Given the description of an element on the screen output the (x, y) to click on. 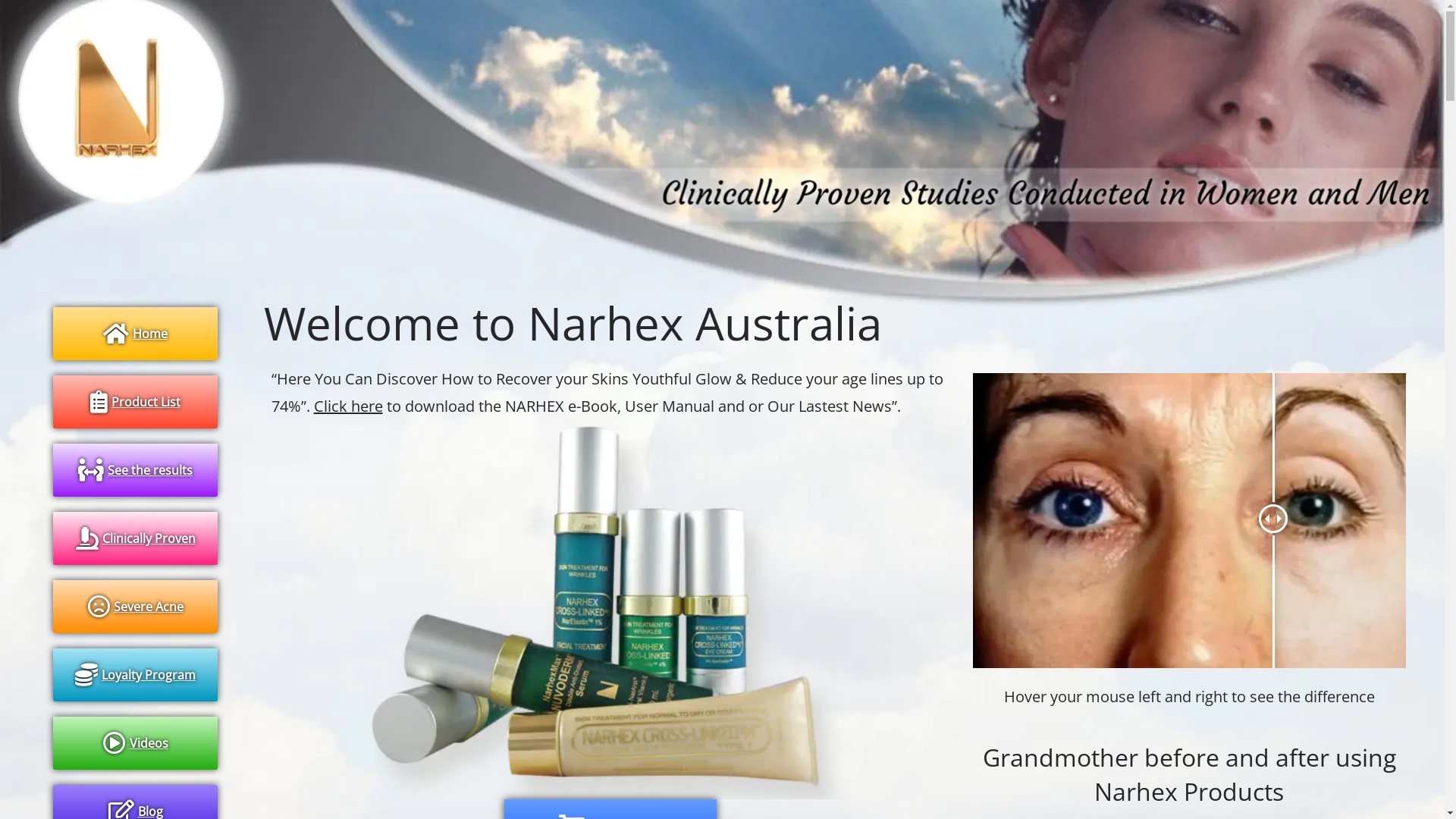
See the results Element type: text (135, 469)
Videos Element type: text (135, 742)
Clinically Proven Element type: text (135, 537)
Loyalty Program Element type: text (135, 674)
Product List Element type: text (135, 401)
Severe Acne Element type: text (135, 606)
Click here Element type: text (347, 405)
Home Element type: text (135, 333)
